Given the description of an element on the screen output the (x, y) to click on. 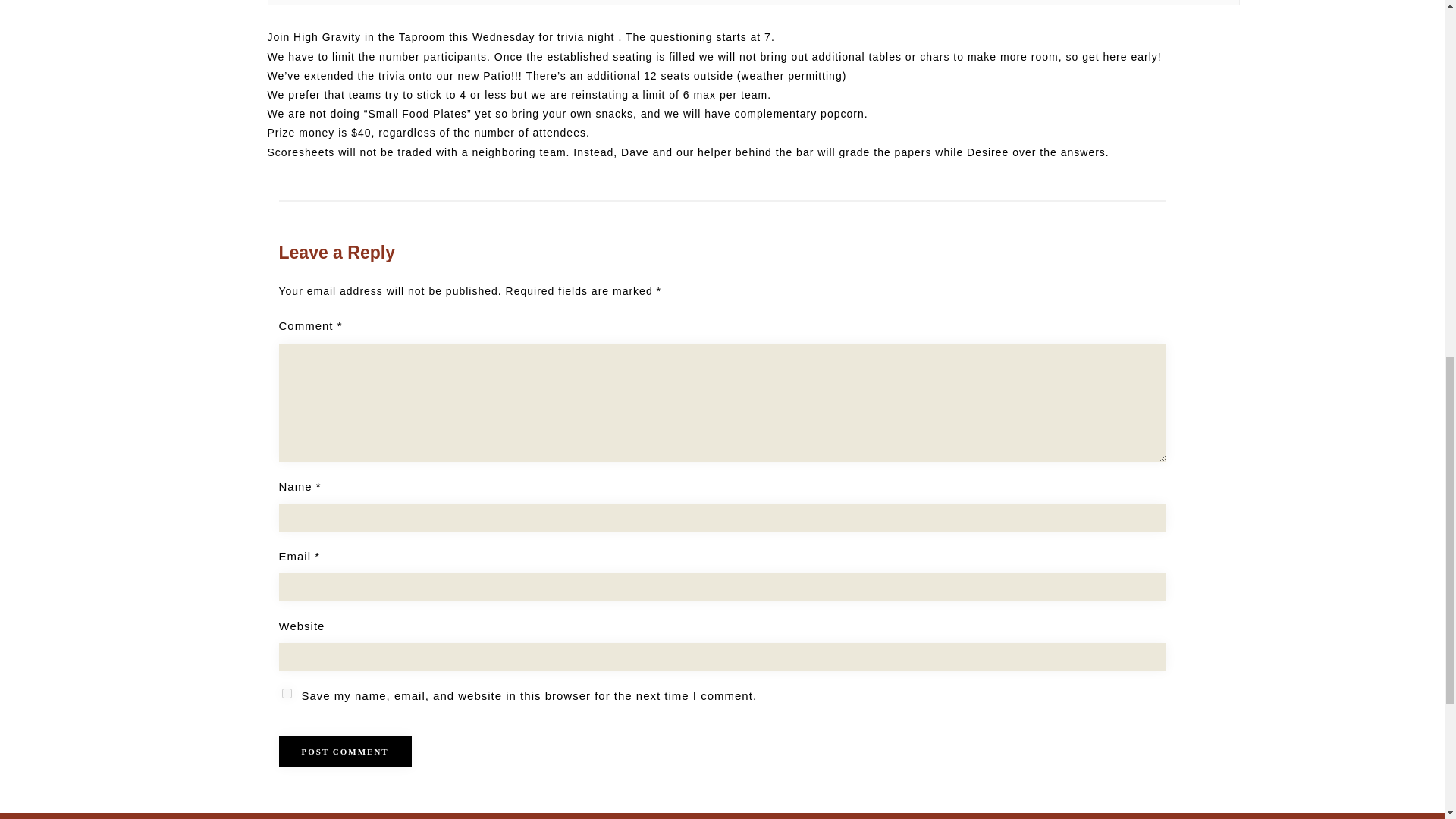
yes (287, 693)
Post Comment (345, 751)
Post Comment (345, 751)
